Given the description of an element on the screen output the (x, y) to click on. 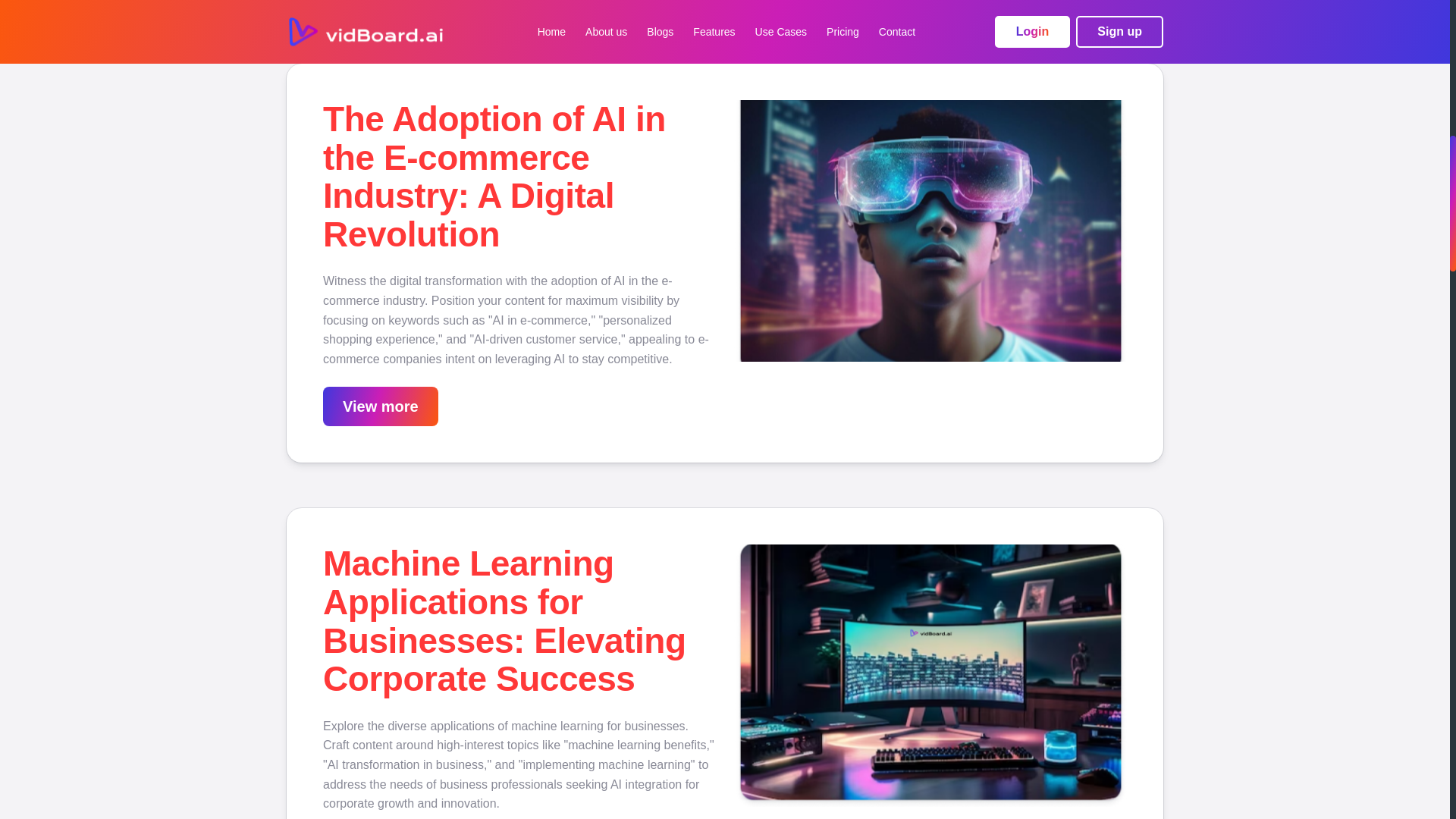
View more (380, 407)
View more (380, 405)
